Given the description of an element on the screen output the (x, y) to click on. 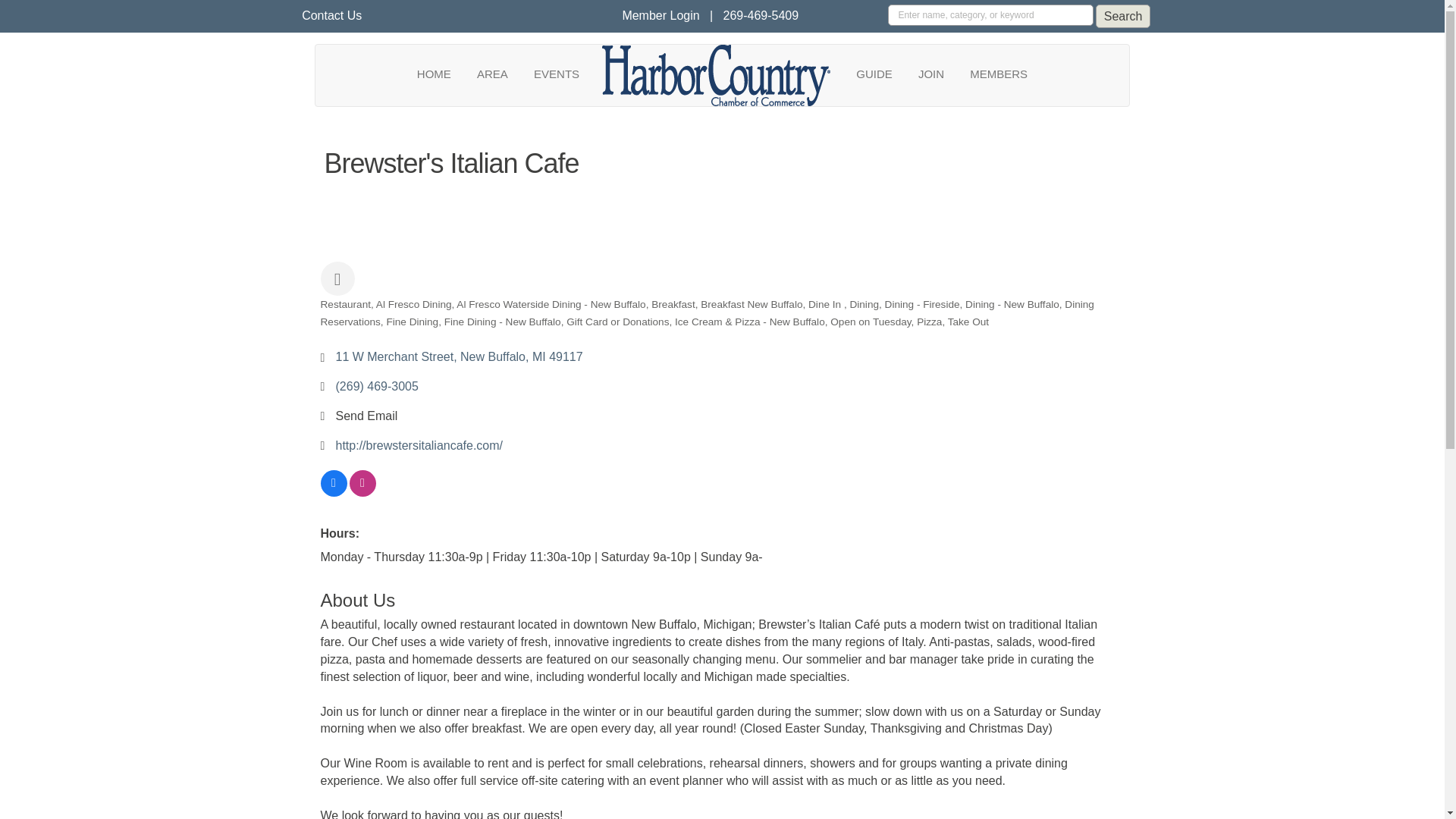
View on Facebook (333, 491)
Member Login (659, 15)
Search (1123, 15)
Search (1123, 15)
View on Instagram (362, 491)
Contact Us (331, 15)
269-469-5409 (761, 15)
Search (1123, 15)
